Given the description of an element on the screen output the (x, y) to click on. 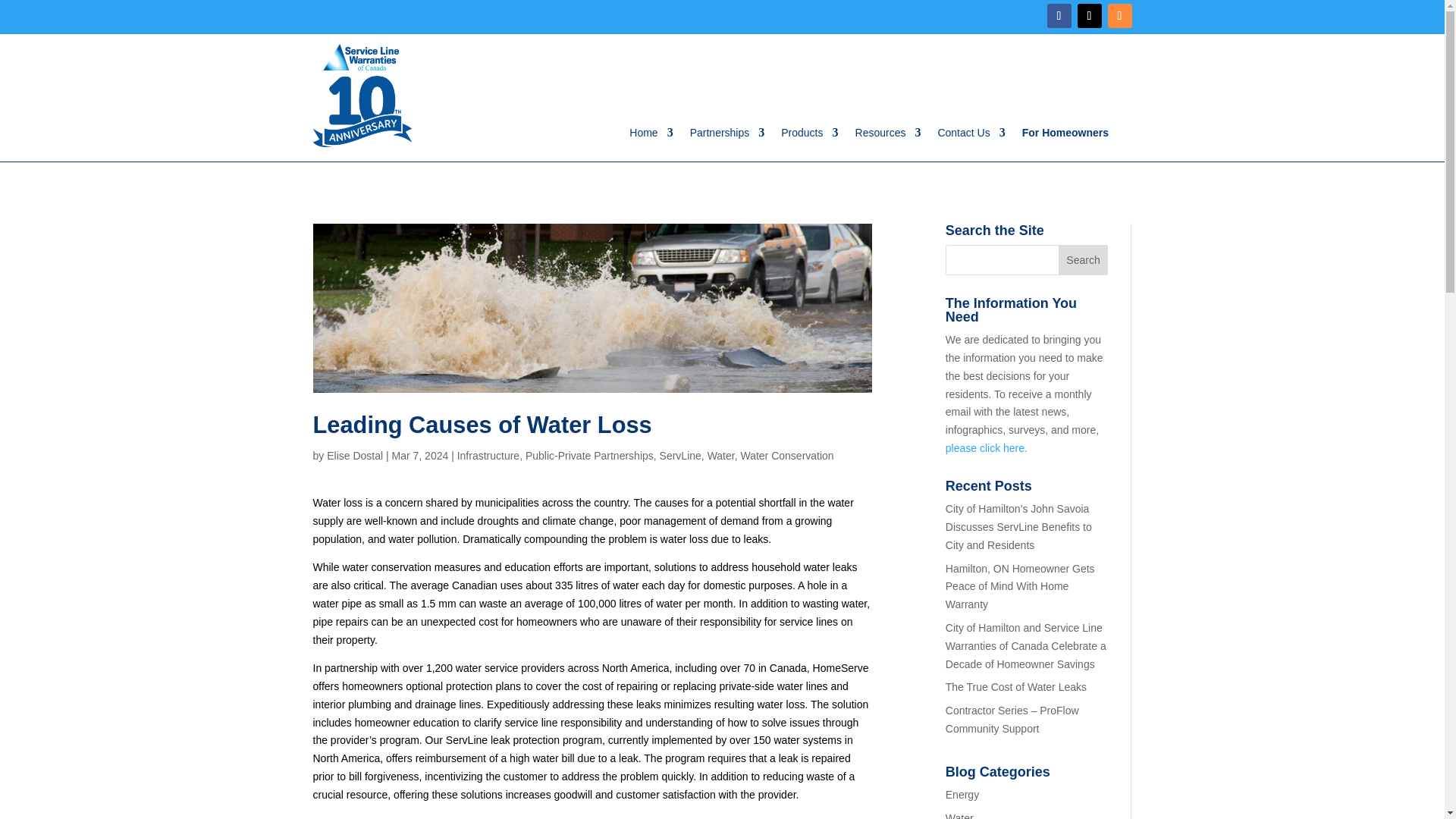
For Homeowners (1065, 135)
bad debt header (592, 308)
Search (1083, 259)
Partnerships (727, 135)
Posts by Elise Dostal (354, 455)
Resources (888, 135)
Products (809, 135)
Follow on RSS (1118, 15)
Follow on Facebook (1058, 15)
Contact Us (970, 135)
Home (650, 135)
Follow on X (1088, 15)
